Given the description of an element on the screen output the (x, y) to click on. 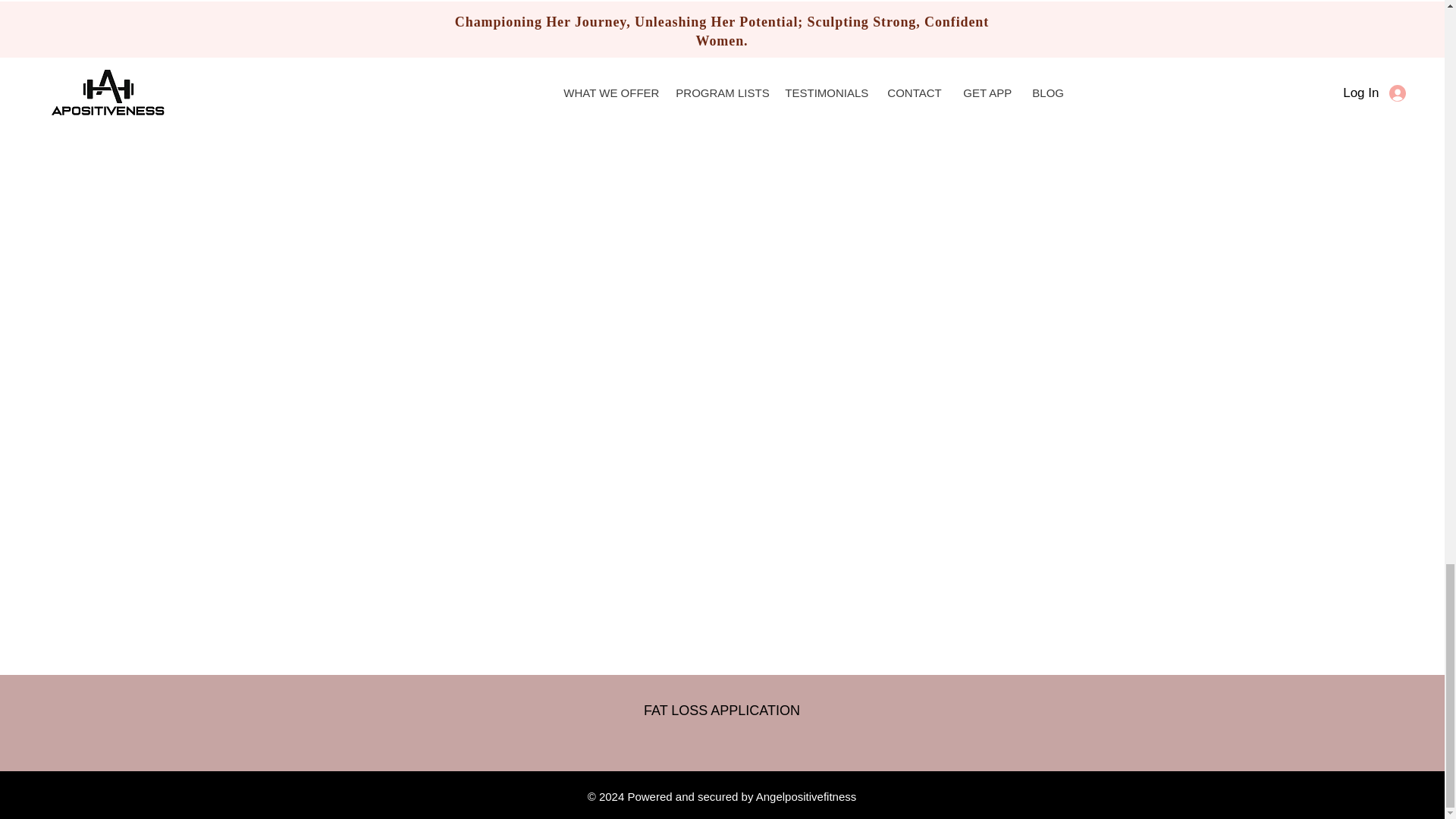
FAT LOSS APPLICATION (721, 710)
